Given the description of an element on the screen output the (x, y) to click on. 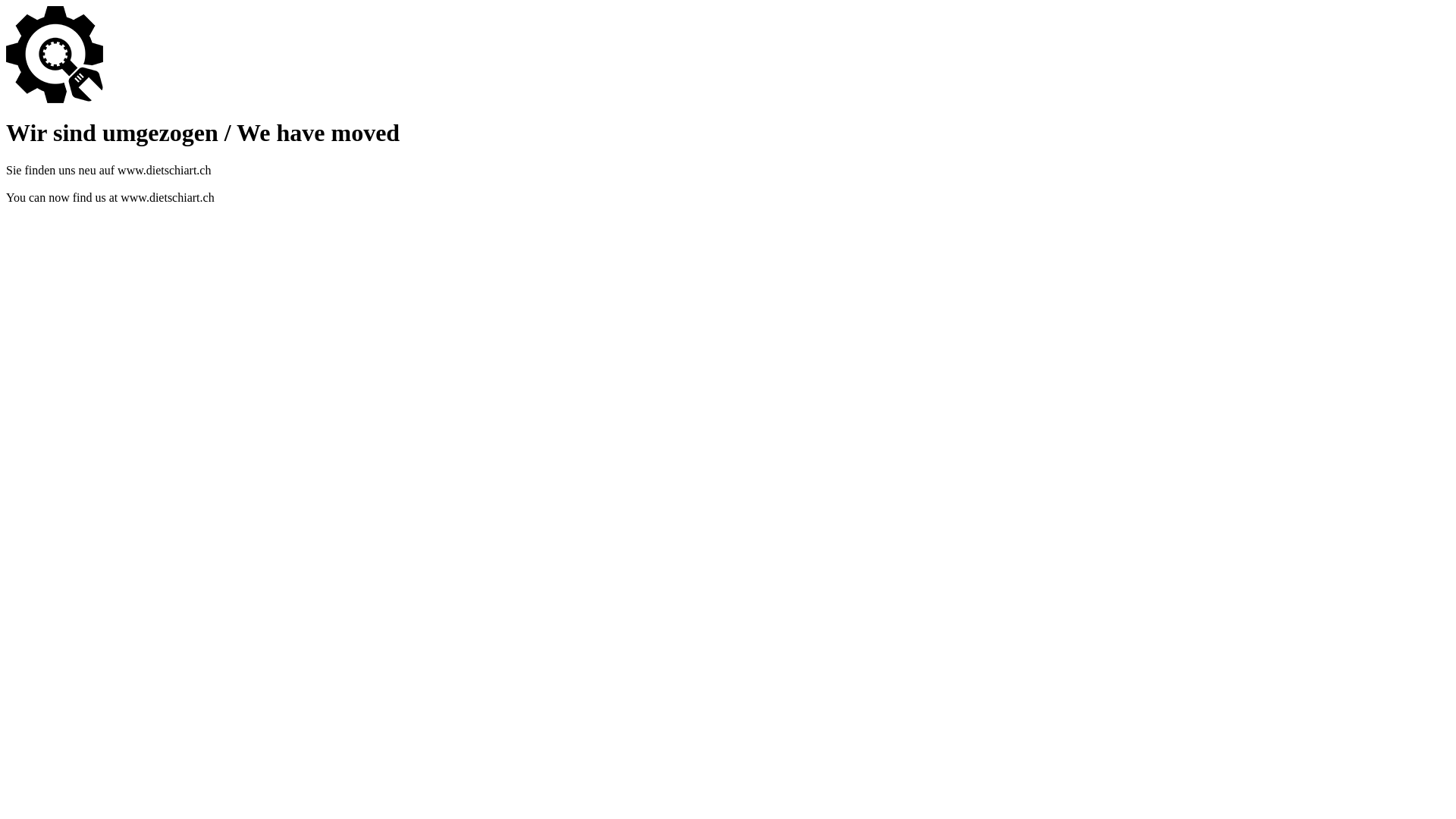
Site is Under Construction Element type: hover (54, 54)
